Given the description of an element on the screen output the (x, y) to click on. 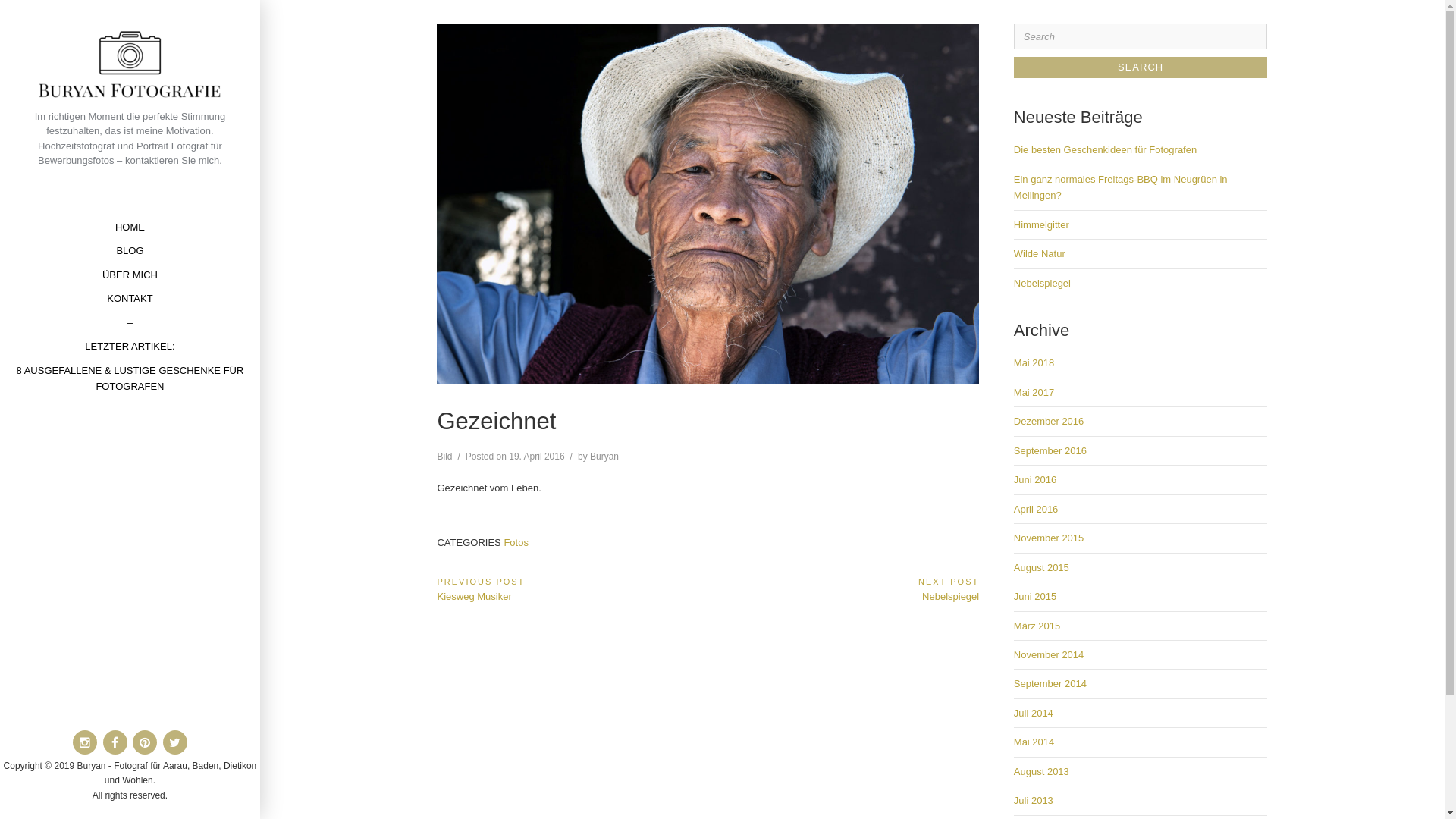
August 2013 Element type: text (1041, 771)
Mai 2018 Element type: text (1033, 362)
Dezember 2016 Element type: text (1048, 420)
Juli 2013 Element type: text (1033, 800)
NEXT POST
Next Post:
Nebelspiegel Element type: text (843, 588)
Fotos Element type: text (515, 542)
Facebook Element type: text (115, 742)
Himmelgitter Element type: text (1041, 224)
Wilde Natur Element type: text (1039, 253)
Mai 2017 Element type: text (1033, 392)
Bild Element type: text (443, 456)
Pinterest Element type: text (144, 742)
Instagram Element type: text (84, 742)
November 2014 Element type: text (1048, 654)
LETZTER ARTIKEL: Element type: text (129, 345)
November 2015 Element type: text (1048, 537)
Search Element type: text (1140, 67)
KONTAKT Element type: text (129, 298)
Juni 2016 Element type: text (1034, 479)
September 2014 Element type: text (1049, 683)
Skip to content Element type: text (0, 0)
September 2016 Element type: text (1049, 450)
Mai 2014 Element type: text (1033, 741)
Nebelspiegel Element type: text (1041, 282)
Juli 2014 Element type: text (1033, 712)
Juni 2015 Element type: text (1034, 596)
BLOG Element type: text (129, 250)
Twitter Element type: text (175, 742)
August 2015 Element type: text (1041, 567)
19. April 2016 Element type: text (536, 456)
PREVIOUS POST
Previous Post:
Kiesweg Musiker Element type: text (571, 588)
HOME Element type: text (129, 226)
Buryan Element type: text (603, 456)
April 2016 Element type: text (1035, 508)
